Given the description of an element on the screen output the (x, y) to click on. 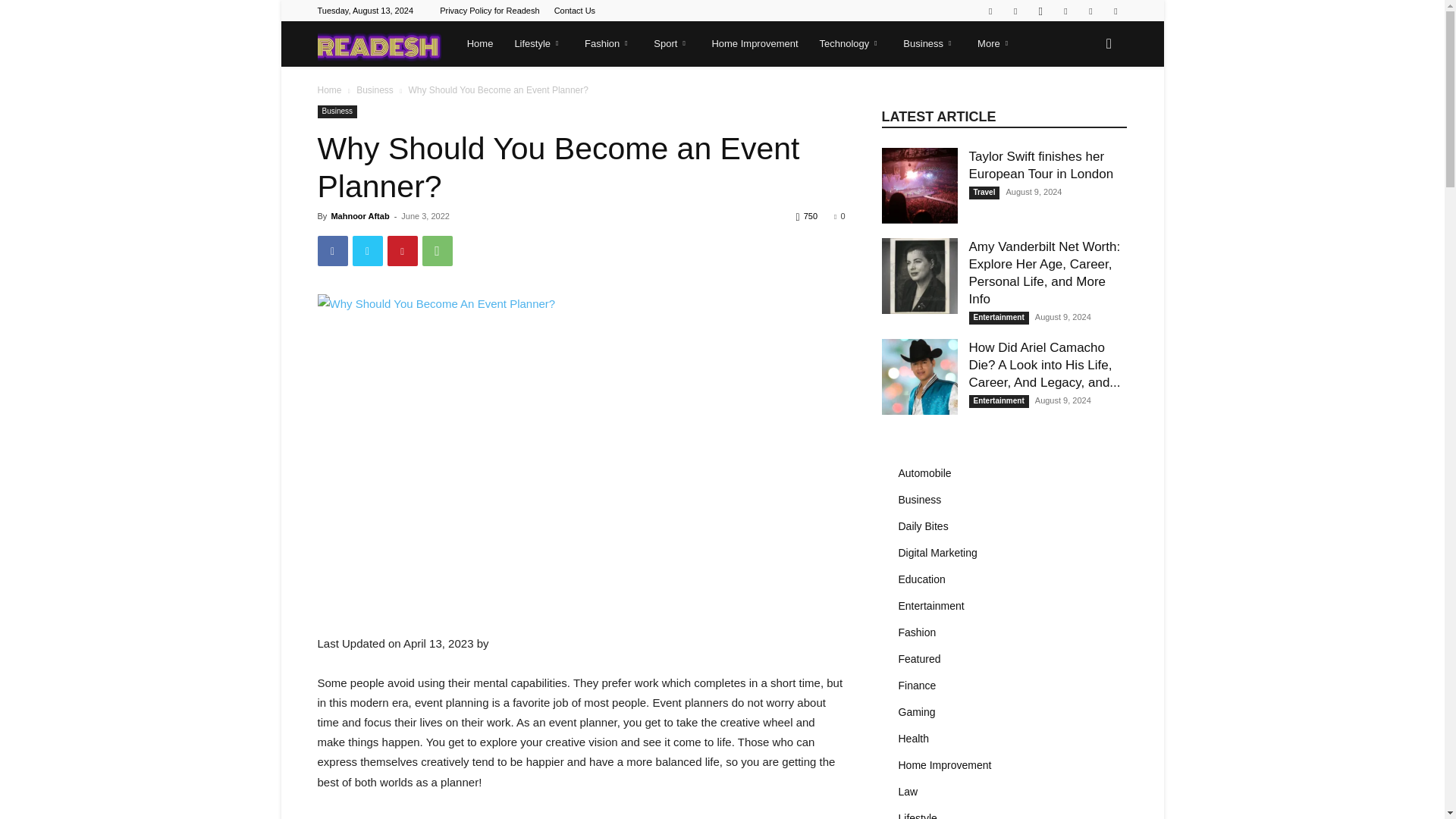
VKontakte (1114, 10)
Facebook (1015, 10)
Contact Us (574, 10)
Vimeo (1090, 10)
Behance (989, 10)
Readish Logo (379, 44)
Twitter (1065, 10)
Instagram (1040, 10)
Privacy Policy for Readesh (488, 10)
